Given the description of an element on the screen output the (x, y) to click on. 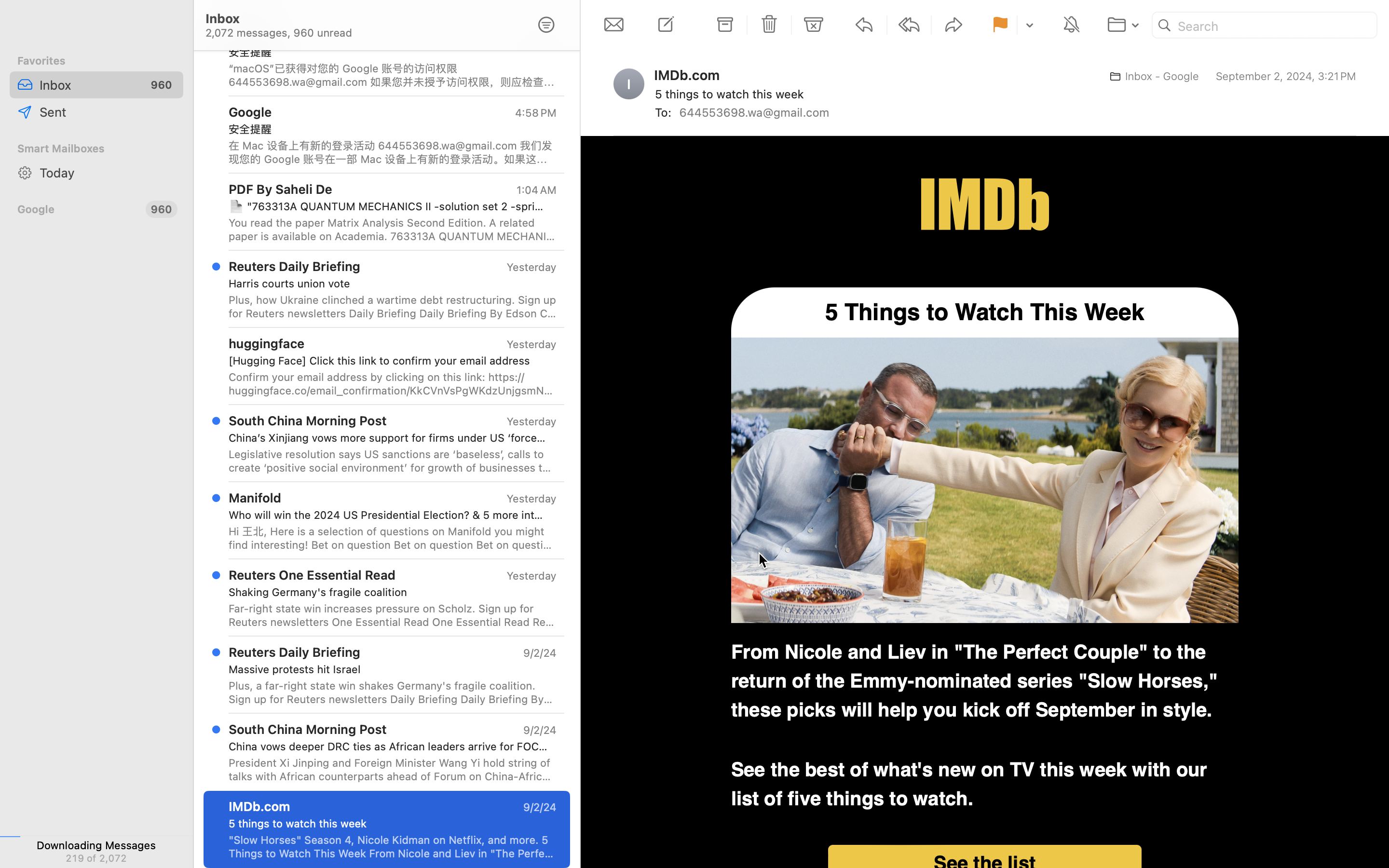
Plus, how Ukraine clinched a wartime debt restructuring. Sign up for Reuters newsletters Daily Briefing Daily Briefing By Edson Caldas Kamala Harris said that US Steel should remain in domestic hands, making a pitch to working-class voters in Pennsylvania who are also being courted by her rival Donald Trump. Elsewhere, we cover Britain's partial suspension of arms export licenses to Israel, and a slump in Intel's share price. Plus, why South Korea's beloved Kimchi is at risk. Today's Top News Kamala Harris with Joe Biden's first appearance together at a rally since she became the Democratic nominee. REUTERS/Quinn Glabicki US election Democratic presidential candidate Kamala Harris used campaign events in Michigan and Pennsylvania, two battleground states, to court the crucial labor vote. Harris has neutralized Donald Trump's edge on the economy among Hispanic voters, and her 13 percentage point lead within that group reflects the fact they vastly prefer her approach to healthcare and c Element type: AXStaticText (392, 306)
